Given the description of an element on the screen output the (x, y) to click on. 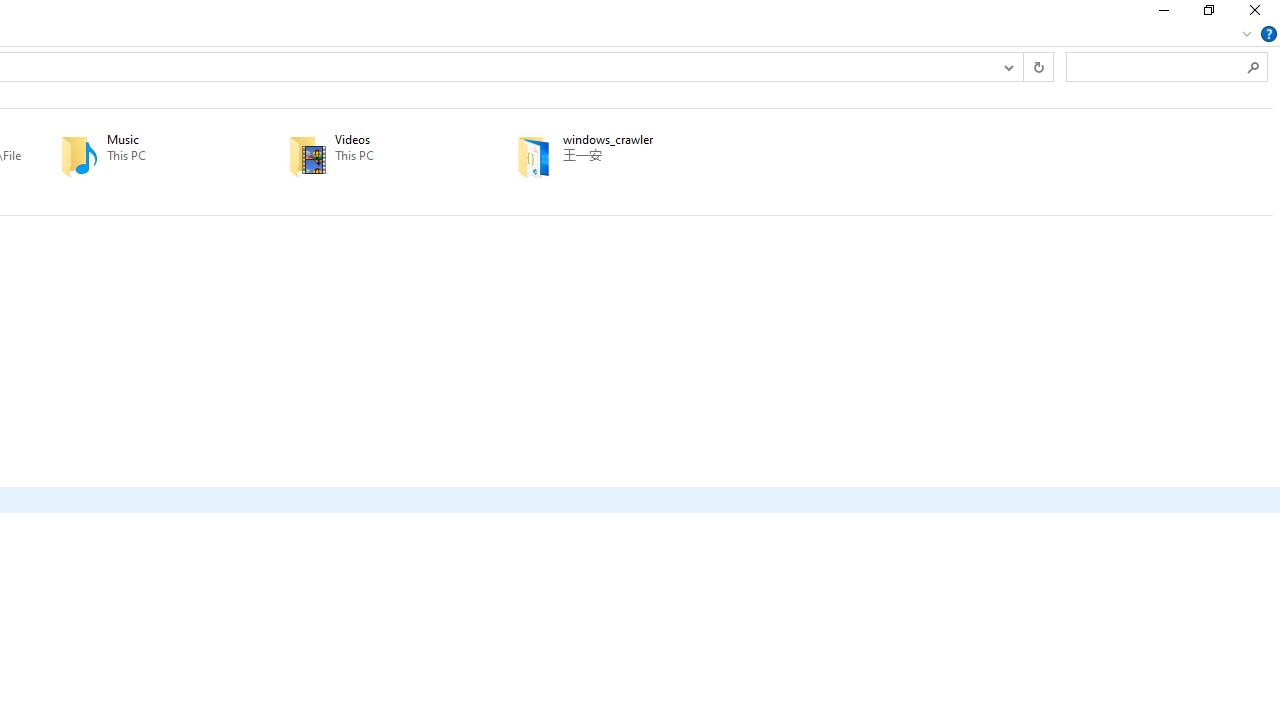
Class: UIImage (534, 155)
